Given the description of an element on the screen output the (x, y) to click on. 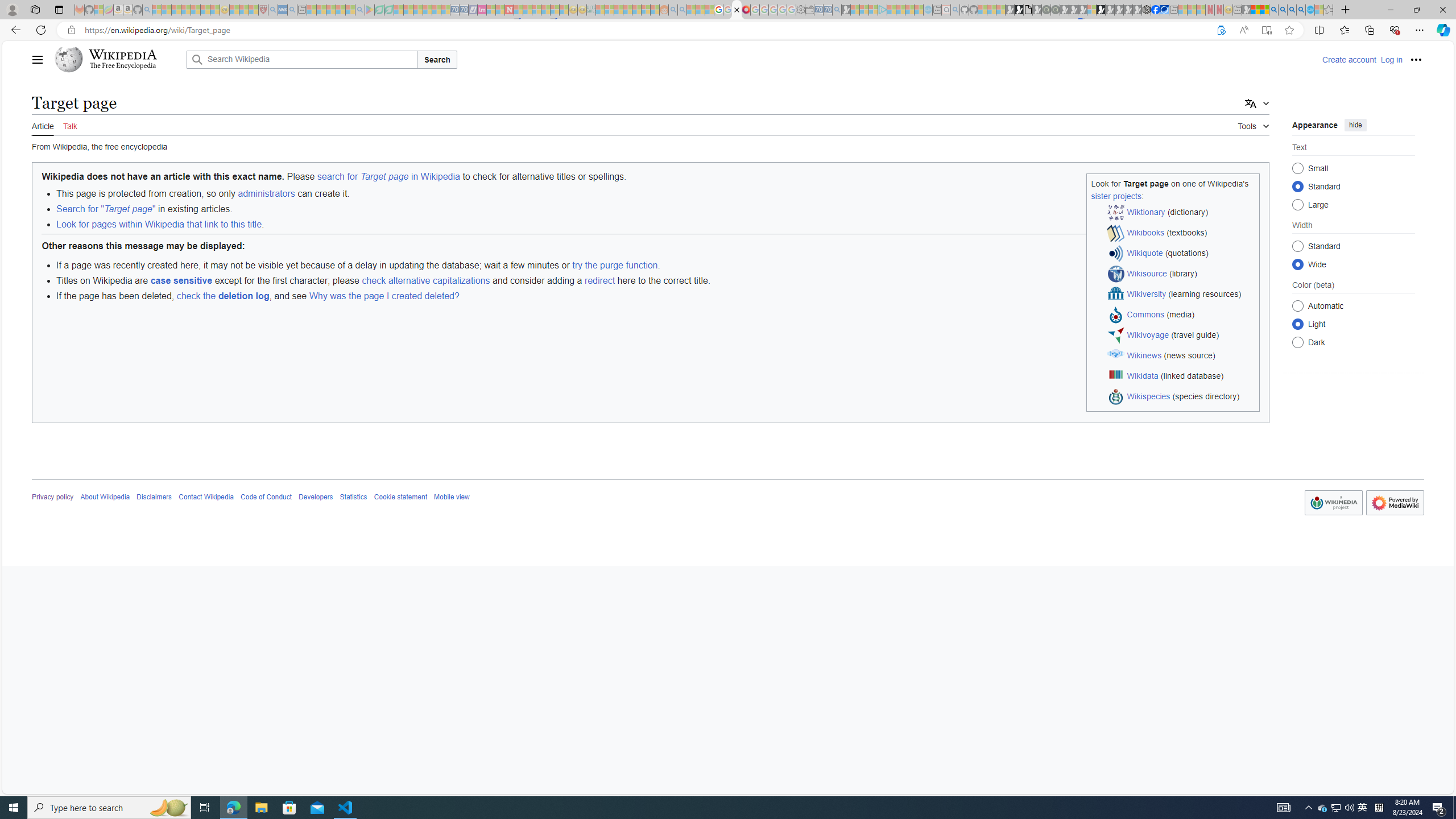
Mobile view (451, 496)
Wikispecies (species directory) (1181, 396)
Wikipedia The Free Encyclopedia (117, 59)
Wikiversity (learning resources) (1181, 294)
Personal tools (1415, 59)
Why was the page I created deleted? (384, 296)
Wikibooks (textbooks) (1181, 233)
Disclaimers (153, 496)
Standard (1297, 245)
